Given the description of an element on the screen output the (x, y) to click on. 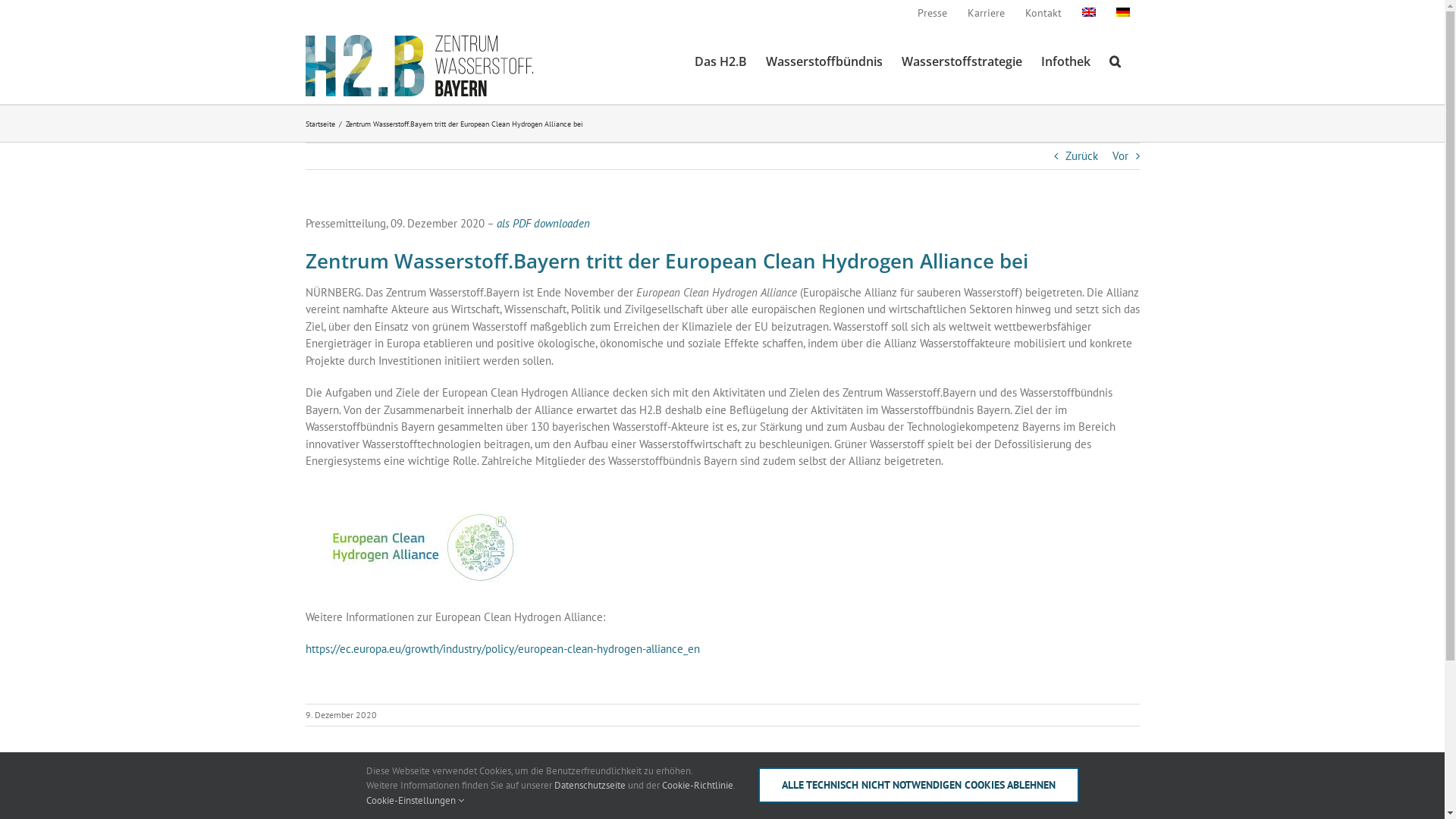
Kontakt Element type: text (1042, 13)
Vor Element type: text (1119, 156)
Karriere Element type: text (985, 13)
Suche Element type: hover (1114, 61)
Das H2.B Element type: text (720, 61)
Datenschutzseite Element type: text (588, 784)
Infothek Element type: text (1064, 61)
Cookie-Richtlinie Element type: text (696, 784)
Wasserstoffstrategie Element type: text (960, 61)
Startseite Element type: text (319, 123)
echa Element type: hover (421, 546)
Cookie-Einstellungen Element type: text (414, 799)
ALLE TECHNISCH NICHT NOTWENDIGEN COOKIES ABLEHNEN Element type: text (918, 785)
Presse Element type: text (931, 13)
als PDF downloaden Element type: text (542, 223)
